Given the description of an element on the screen output the (x, y) to click on. 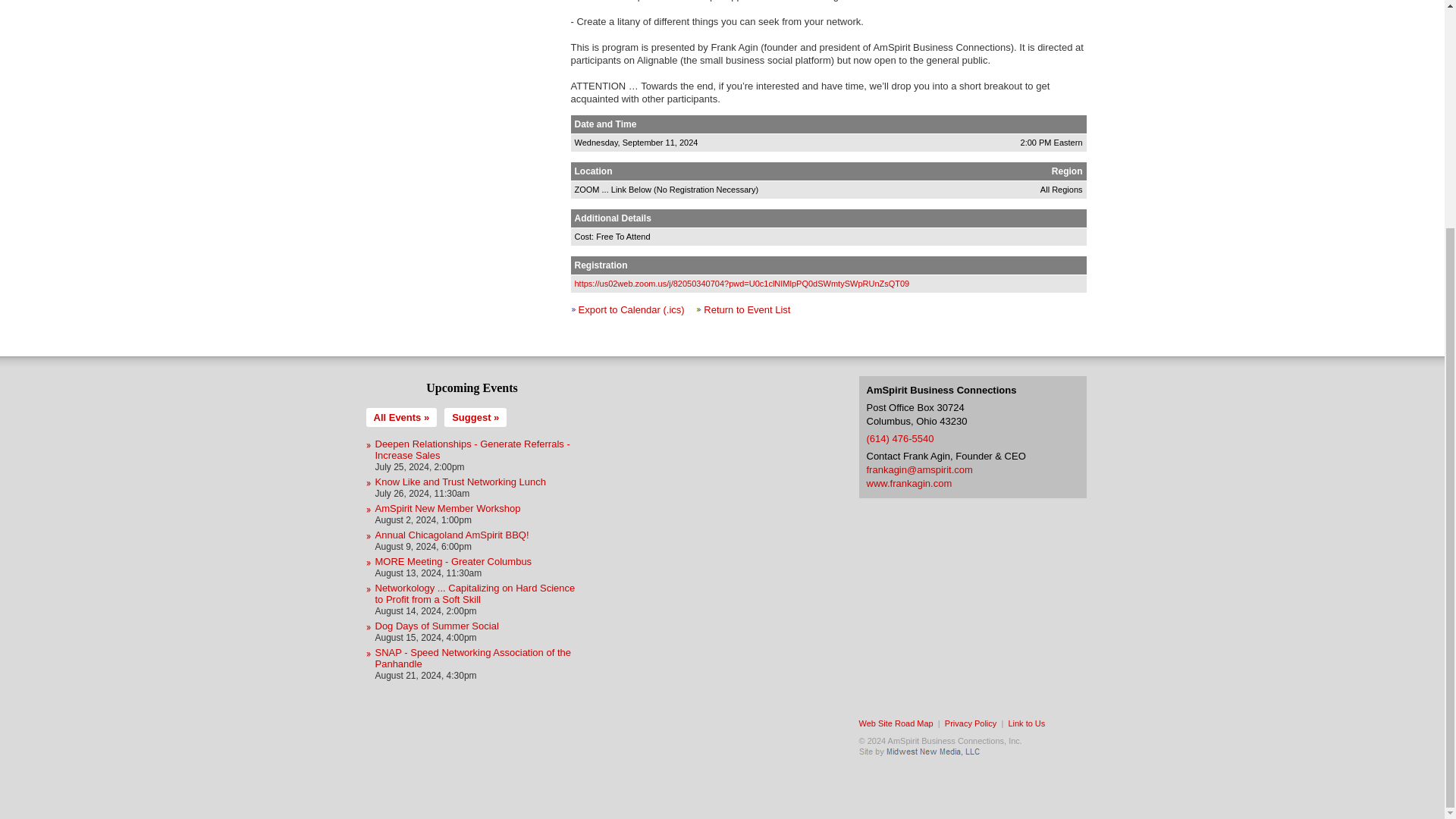
Privacy Policy (969, 723)
Web Site Road Map (896, 723)
Return to Event List (746, 309)
www.frankagin.com (909, 482)
Dog Days of Summer Social (435, 625)
Calendar (400, 416)
Deepen Relationships - Generate Referrals - Increase Sales (471, 449)
AmSpirit New Member Workshop (446, 508)
SNAP - Speed Networking Association of the Panhandle (472, 658)
Annual Chicagoland AmSpirit BBQ! (451, 534)
Deepen Relationships - Generate Referrals - Increase Sales (471, 449)
Suggest Calendar Event (475, 416)
Know Like and Trust Networking Lunch (459, 481)
AmSpirit New Member Workshop (446, 508)
